Given the description of an element on the screen output the (x, y) to click on. 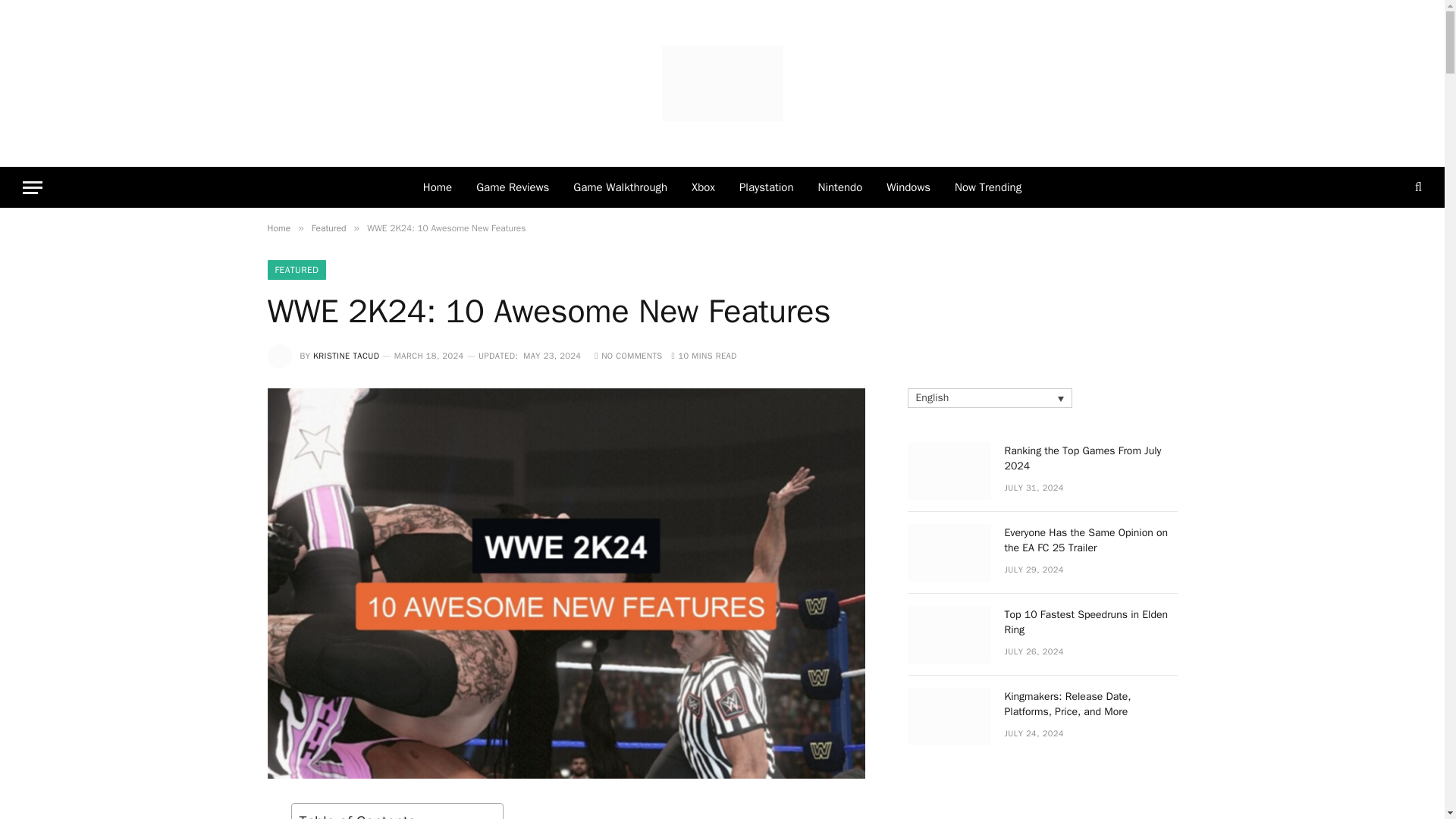
Home (277, 227)
Playstation (766, 187)
Posts by Kristine Tacud (345, 355)
Windows (908, 187)
NO COMMENTS (628, 355)
Xbox (702, 187)
Now Trending (987, 187)
FEATURED (296, 270)
Game Reviews (512, 187)
Nintendo (840, 187)
Home (437, 187)
Featured (328, 227)
KRISTINE TACUD (345, 355)
Electronic First Blog (722, 83)
